Given the description of an element on the screen output the (x, y) to click on. 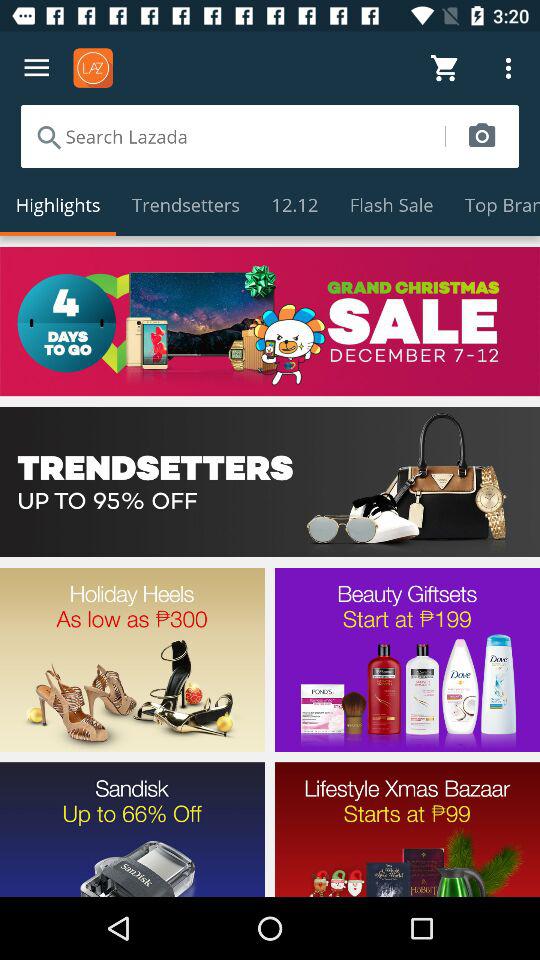
access camera (482, 136)
